Given the description of an element on the screen output the (x, y) to click on. 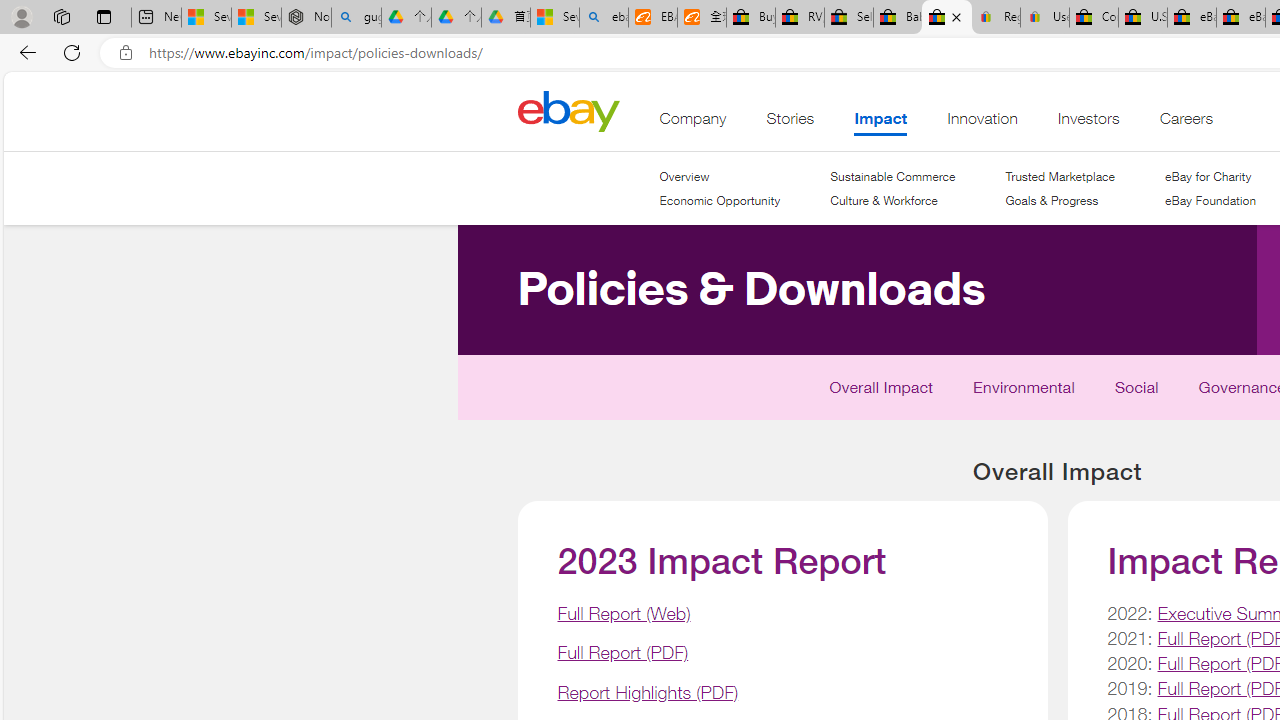
Report Highlights (PDF) (647, 691)
Culture & Workforce (892, 201)
Stories (790, 123)
Sustainable Commerce (892, 176)
eBay for Charity (1209, 176)
Full Report (Web) (623, 612)
eBay Foundation (1209, 201)
Social (1135, 391)
eBay Inc. Reports Third Quarter 2023 Results (1240, 17)
Consumer Health Data Privacy Policy - eBay Inc. (1093, 17)
Class: desktop (568, 110)
Register: Create a personal eBay account (995, 17)
Full Report (PDF) (622, 652)
Trusted Marketplace (1059, 176)
